Given the description of an element on the screen output the (x, y) to click on. 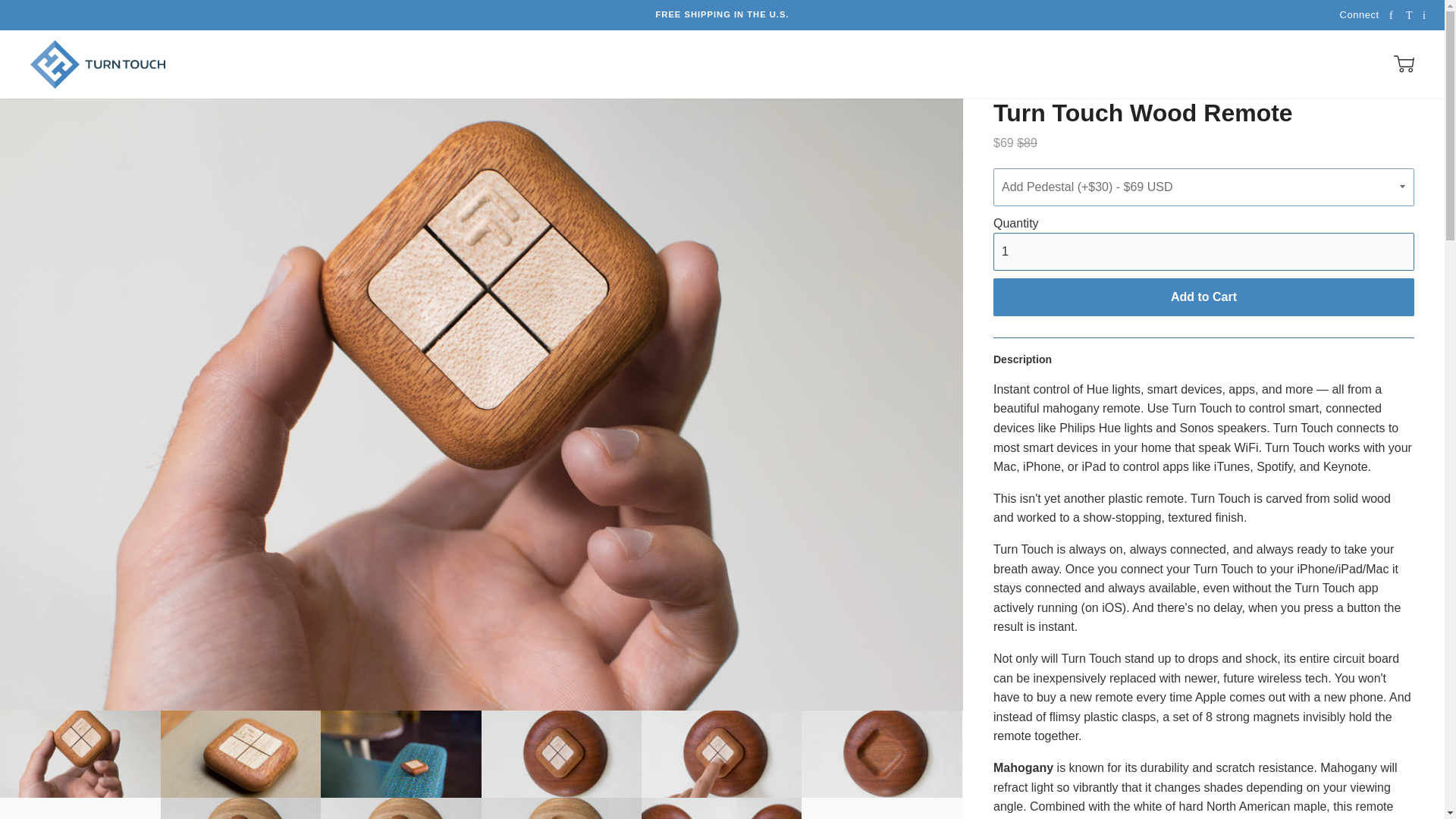
Description (1021, 359)
FACEBOOK (1392, 14)
TWITTER (1409, 14)
1 (1202, 251)
INSTAGRAM (1425, 14)
Add to Cart (1202, 297)
